Given the description of an element on the screen output the (x, y) to click on. 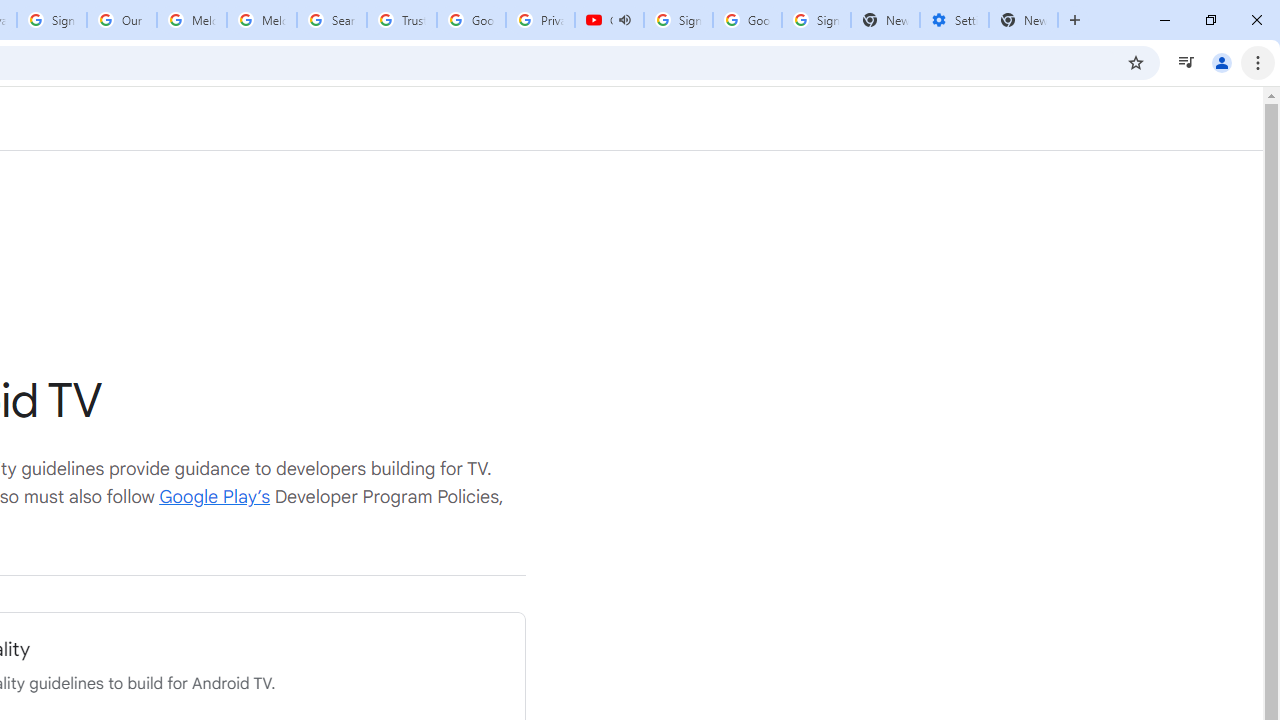
Sign in - Google Accounts (51, 20)
Trusted Information and Content - Google Safety Center (401, 20)
Sign in - Google Accounts (677, 20)
Google Cybersecurity Innovations - Google Safety Center (747, 20)
